Given the description of an element on the screen output the (x, y) to click on. 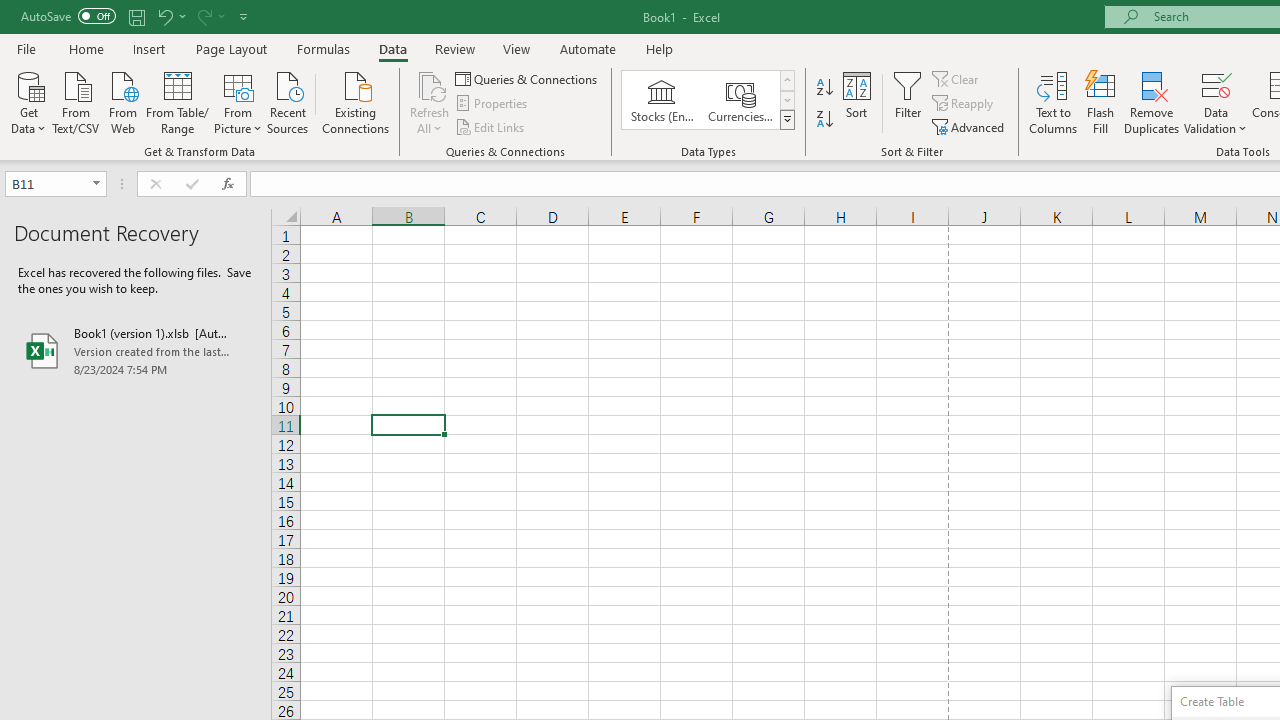
Recent Sources (287, 101)
Filter (908, 102)
Stocks (English) (662, 100)
Reapply (964, 103)
Data Types (786, 120)
